Given the description of an element on the screen output the (x, y) to click on. 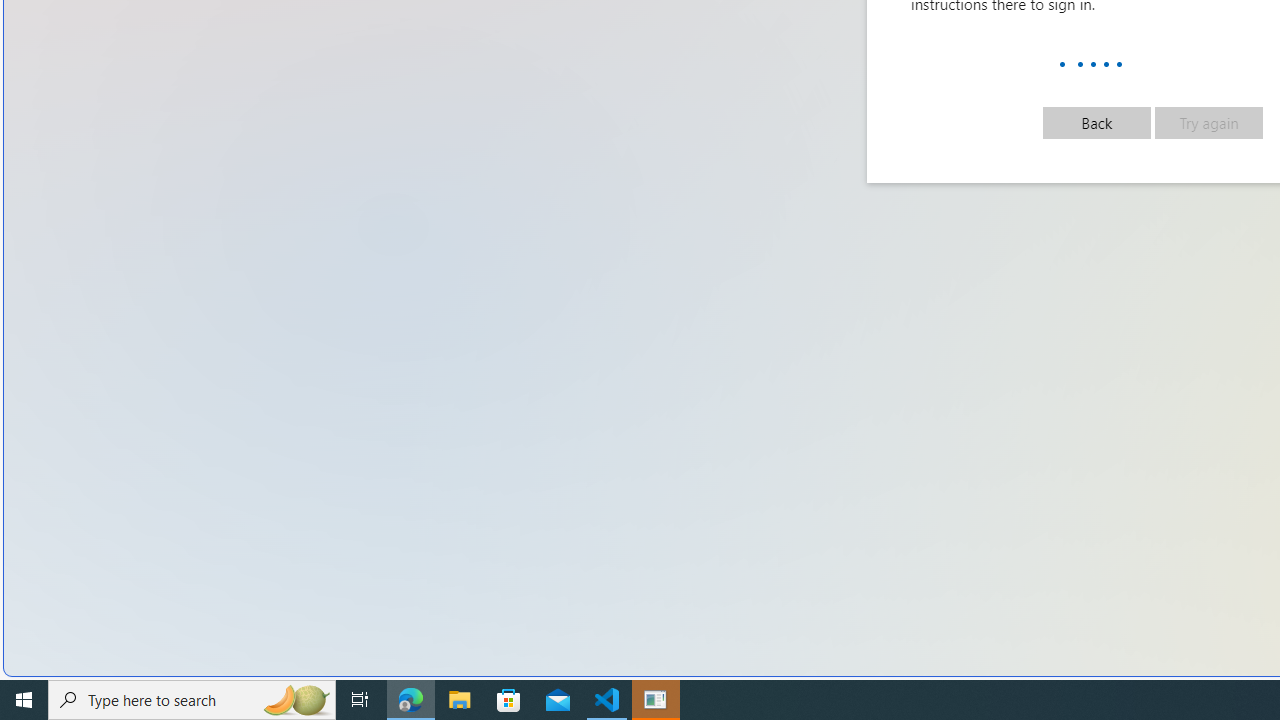
Try again (1208, 121)
